Given the description of an element on the screen output the (x, y) to click on. 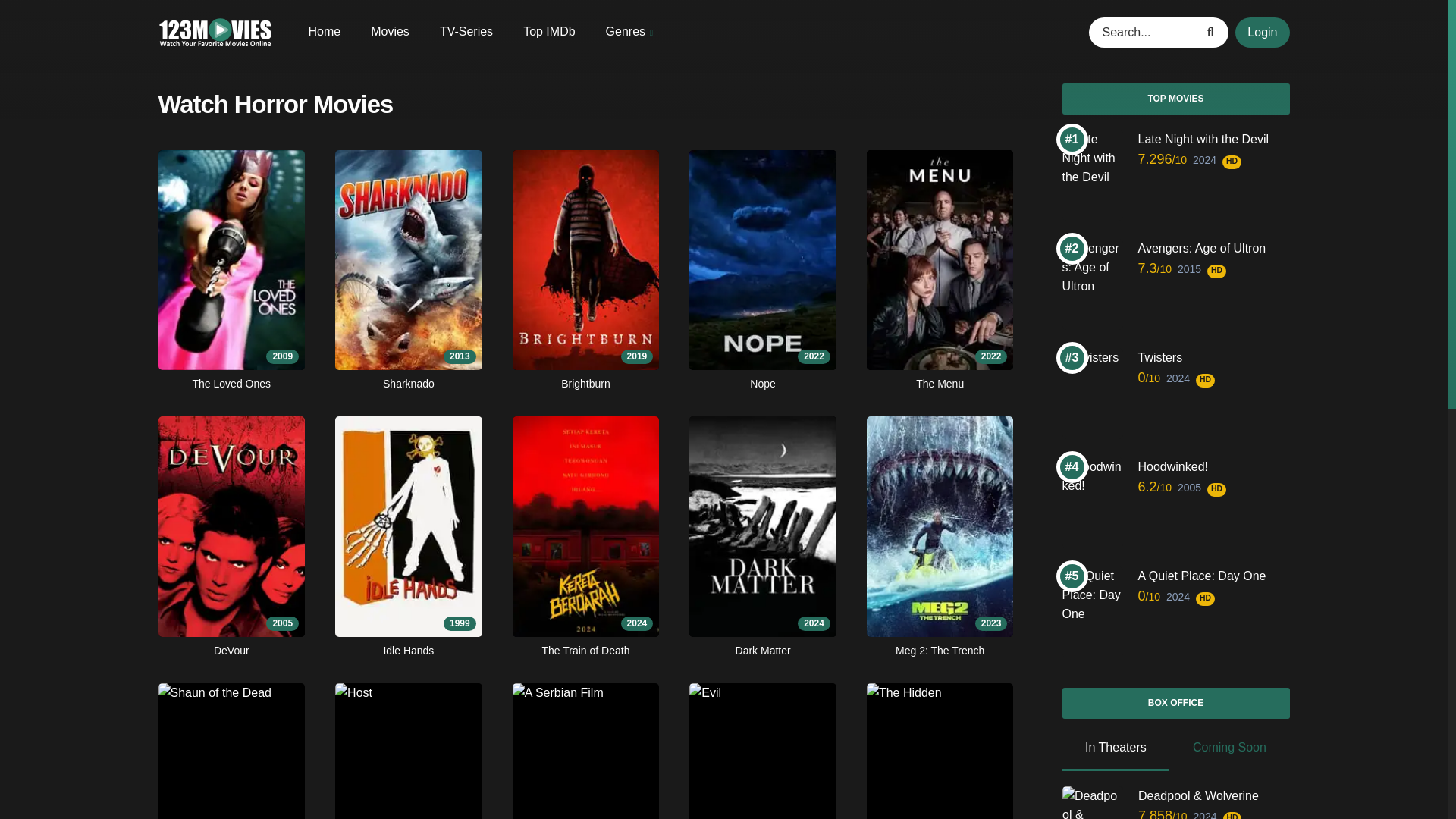
Top IMDb (548, 30)
Search (1213, 31)
Home (323, 30)
Login (761, 751)
Movies (585, 751)
TV-Series (1261, 31)
